Given the description of an element on the screen output the (x, y) to click on. 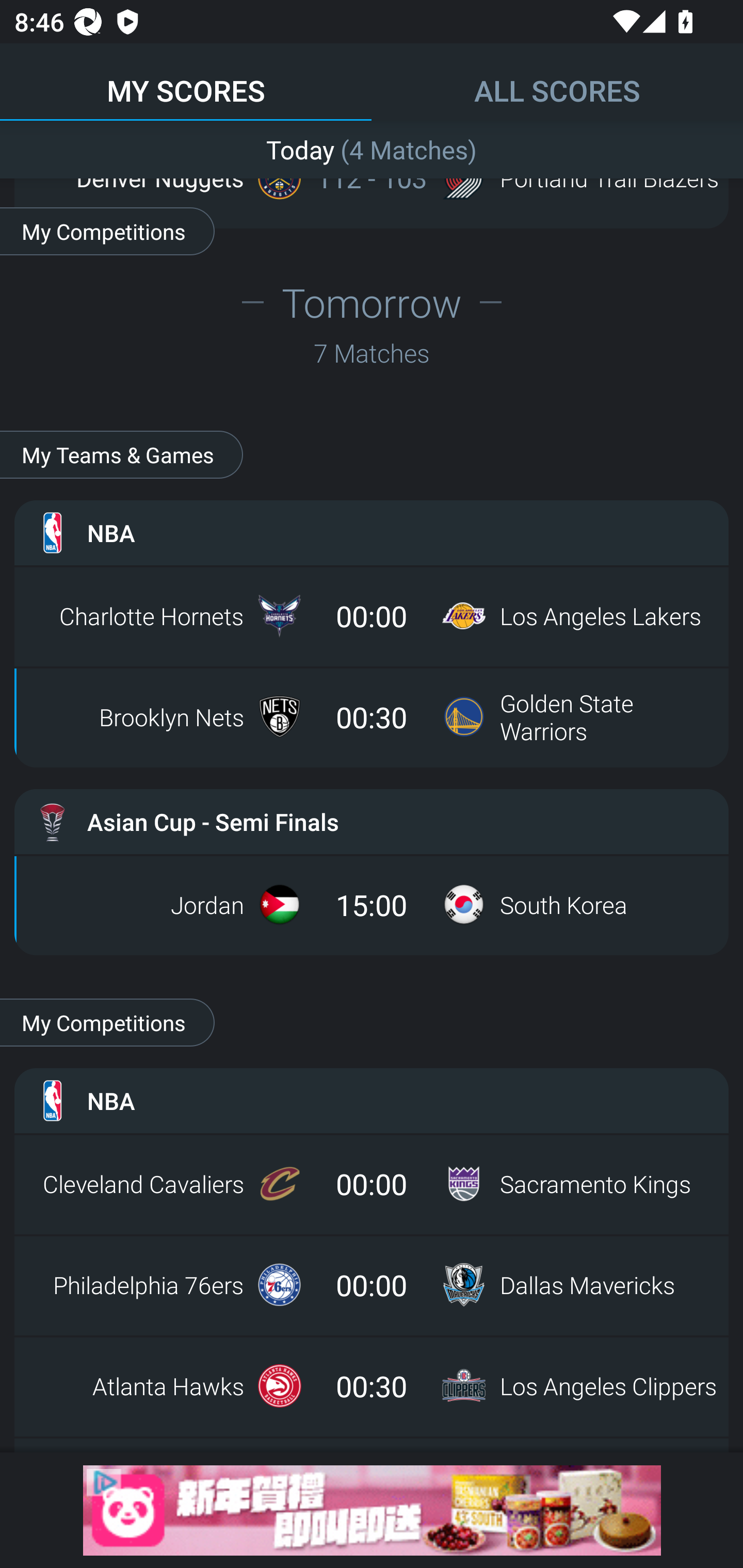
MY SCORES (185, 81)
ALL SCORES (557, 81)
NBA (371, 533)
Charlotte Hornets 00:00 Los Angeles Lakers (371, 616)
Brooklyn Nets 00:30 Golden State Warriors (371, 716)
Asian Cup - Semi Finals (371, 821)
Jordan 15:00 South Korea (371, 904)
NBA (371, 1100)
Cleveland Cavaliers 00:00 Sacramento Kings (371, 1183)
Philadelphia 76ers 00:00 Dallas Mavericks (371, 1284)
Atlanta Hawks 00:30 Los Angeles Clippers (371, 1385)
mg0gkqli_320x50 (371, 1509)
